Given the description of an element on the screen output the (x, y) to click on. 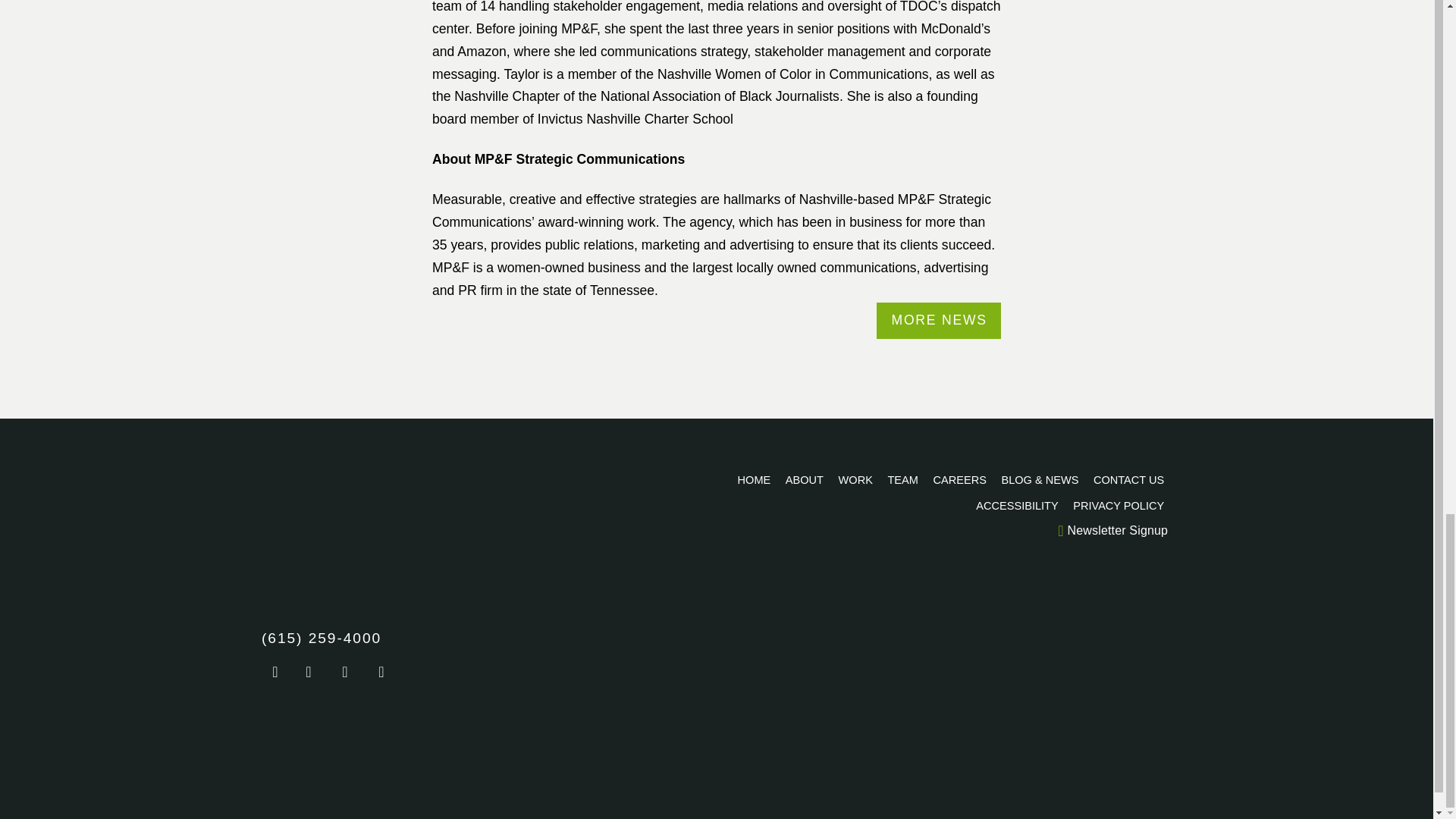
WORK (855, 479)
PRIVACY POLICY (1118, 505)
ACCESSIBILITY (1017, 505)
TEAM (903, 479)
ABOUT (804, 479)
CONTACT US (1129, 479)
CAREERS (960, 479)
MORE NEWS (938, 320)
HOME (753, 479)
